Given the description of an element on the screen output the (x, y) to click on. 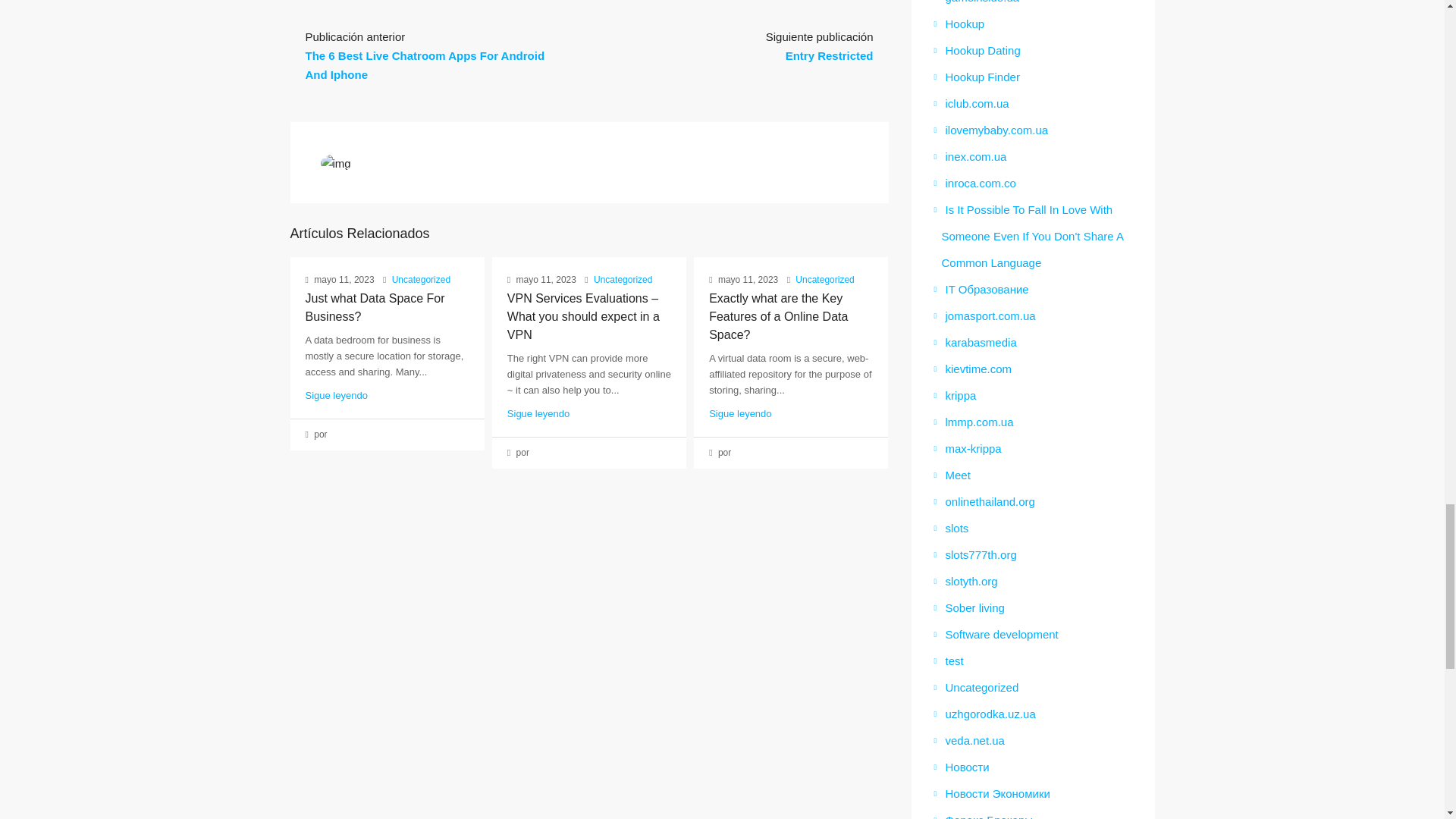
Entry Restricted (829, 55)
The 6 Best Live Chatroom Apps For Android And Iphone (424, 65)
